Given the description of an element on the screen output the (x, y) to click on. 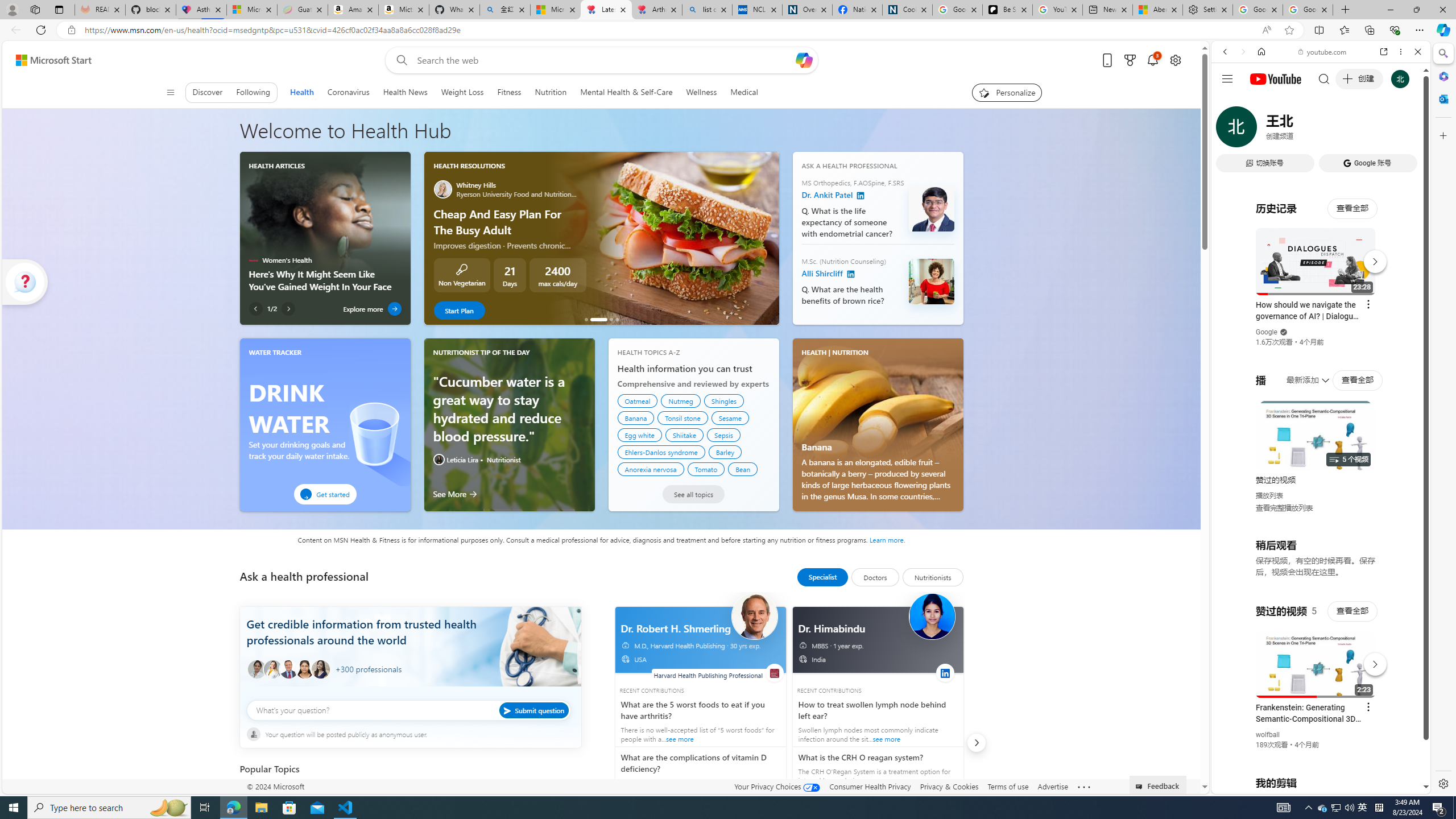
Advertise (1052, 786)
Health professional icon - Dr. Robert H. Shmerling (753, 615)
Cookies (907, 9)
See more (1083, 787)
Bean (743, 468)
